Given the description of an element on the screen output the (x, y) to click on. 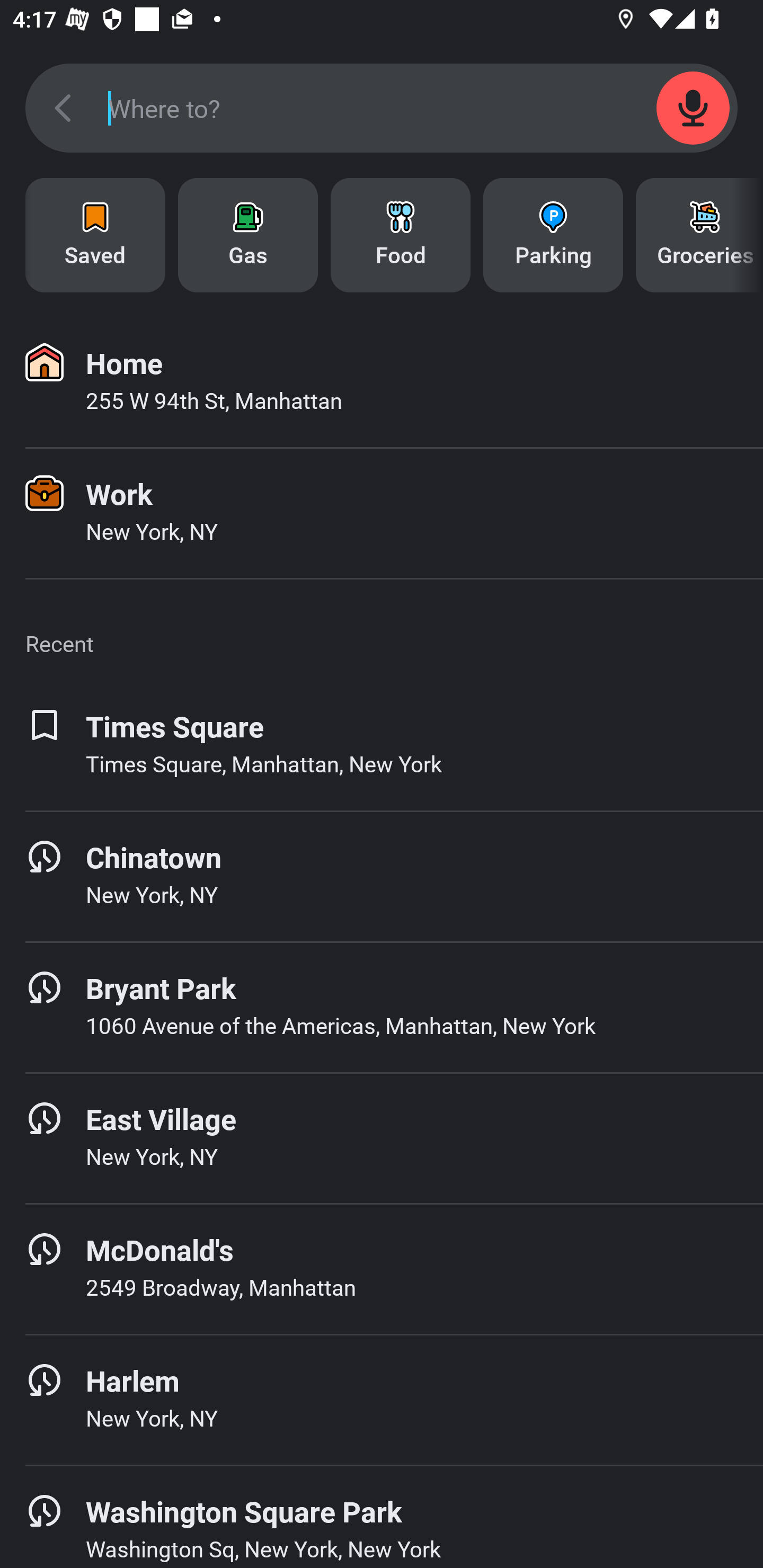
SEARCH_SCREEN_SEARCH_FIELD Where to? (381, 108)
Saved (95, 234)
Gas (247, 234)
Food (400, 234)
Parking (552, 234)
Groceries (699, 234)
Home 255 W 94th St, Manhattan (381, 382)
Work New York, NY (381, 513)
Times Square Times Square, Manhattan, New York (381, 745)
Chinatown New York, NY (381, 876)
East Village New York, NY (381, 1138)
McDonald's 2549 Broadway, Manhattan (381, 1269)
Harlem New York, NY (381, 1399)
